Given the description of an element on the screen output the (x, y) to click on. 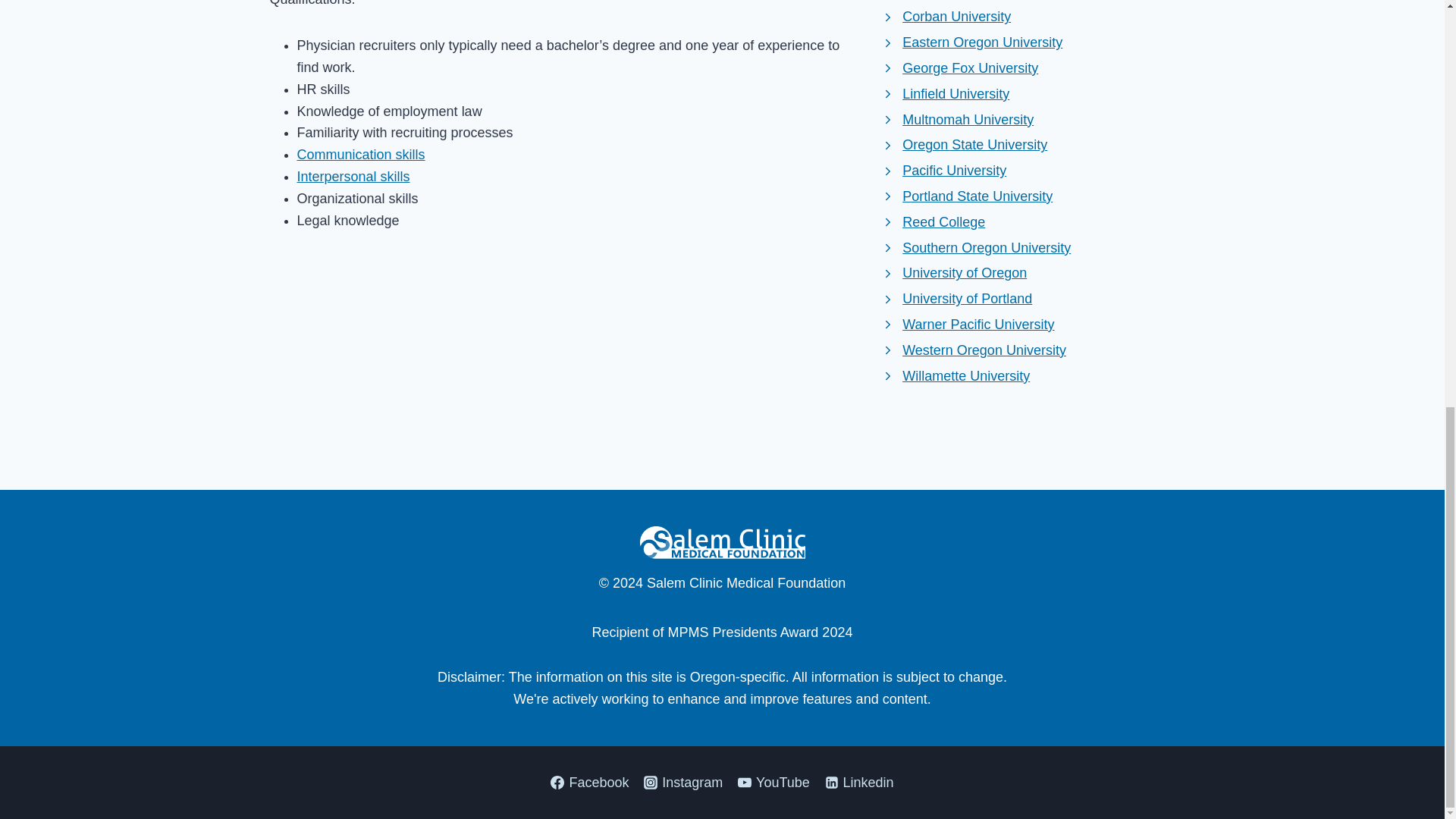
Pacific University (943, 170)
Reed College (932, 222)
Western Oregon University (972, 350)
YouTube (773, 782)
Communication skills (361, 154)
Instagram (683, 782)
Willamette University (954, 376)
Interpersonal skills (353, 176)
Corban University (945, 16)
University of Oregon (953, 273)
Eastern Oregon University (971, 42)
Warner Pacific University (967, 324)
Multnomah University (956, 119)
Facebook (588, 782)
Linfield University (944, 94)
